Given the description of an element on the screen output the (x, y) to click on. 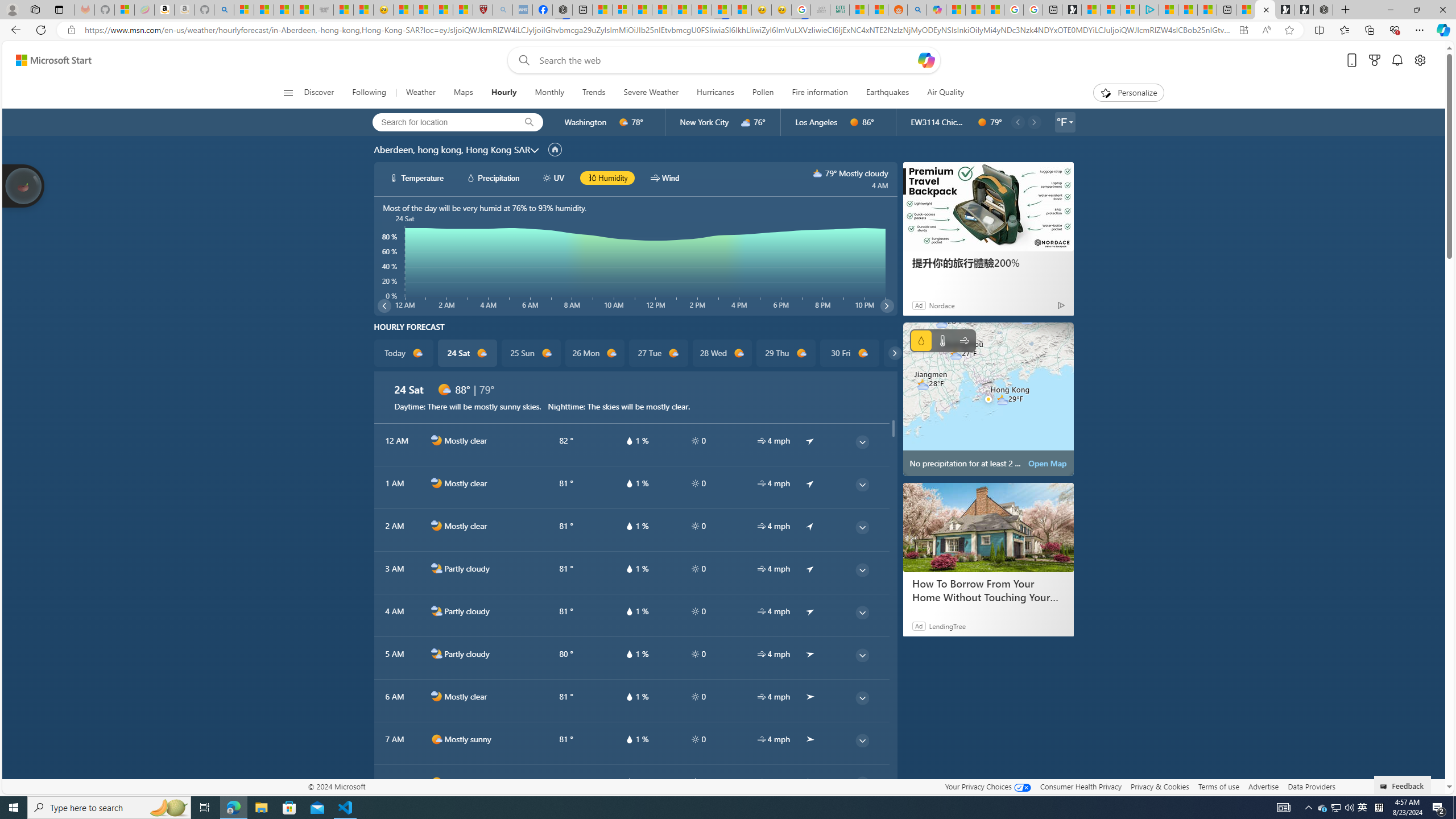
Pollen (762, 92)
hourlyChart/humidityBlack Humidity (606, 178)
Earthquakes (887, 92)
29 Thu d1000 (785, 352)
d0000 (981, 121)
hourlyChart/precipitationWhite (470, 177)
common/carouselChevron (894, 352)
